Given the description of an element on the screen output the (x, y) to click on. 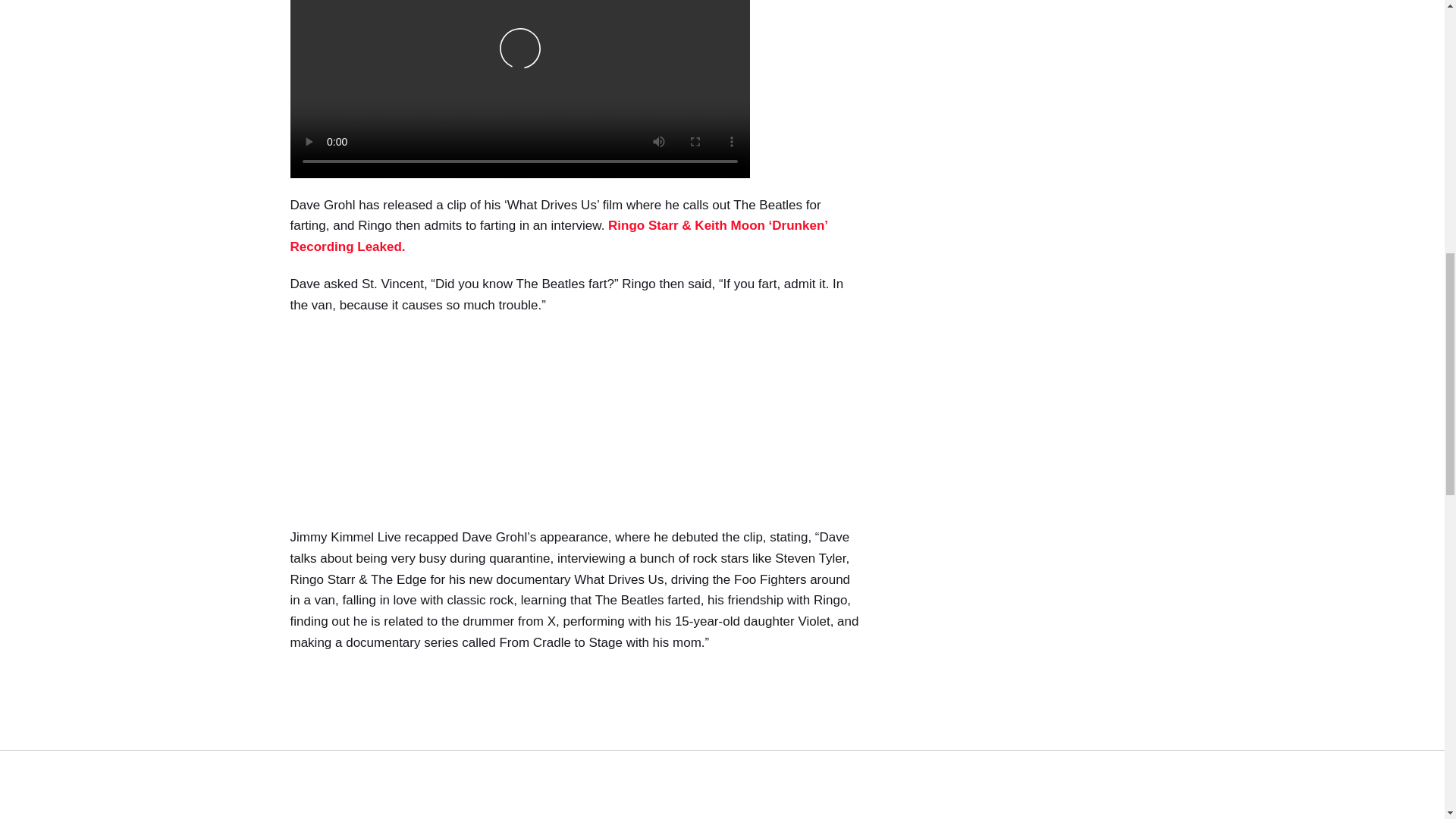
3rd party ad content (574, 744)
3rd party ad content (574, 425)
3rd party ad content (1023, 88)
